Given the description of an element on the screen output the (x, y) to click on. 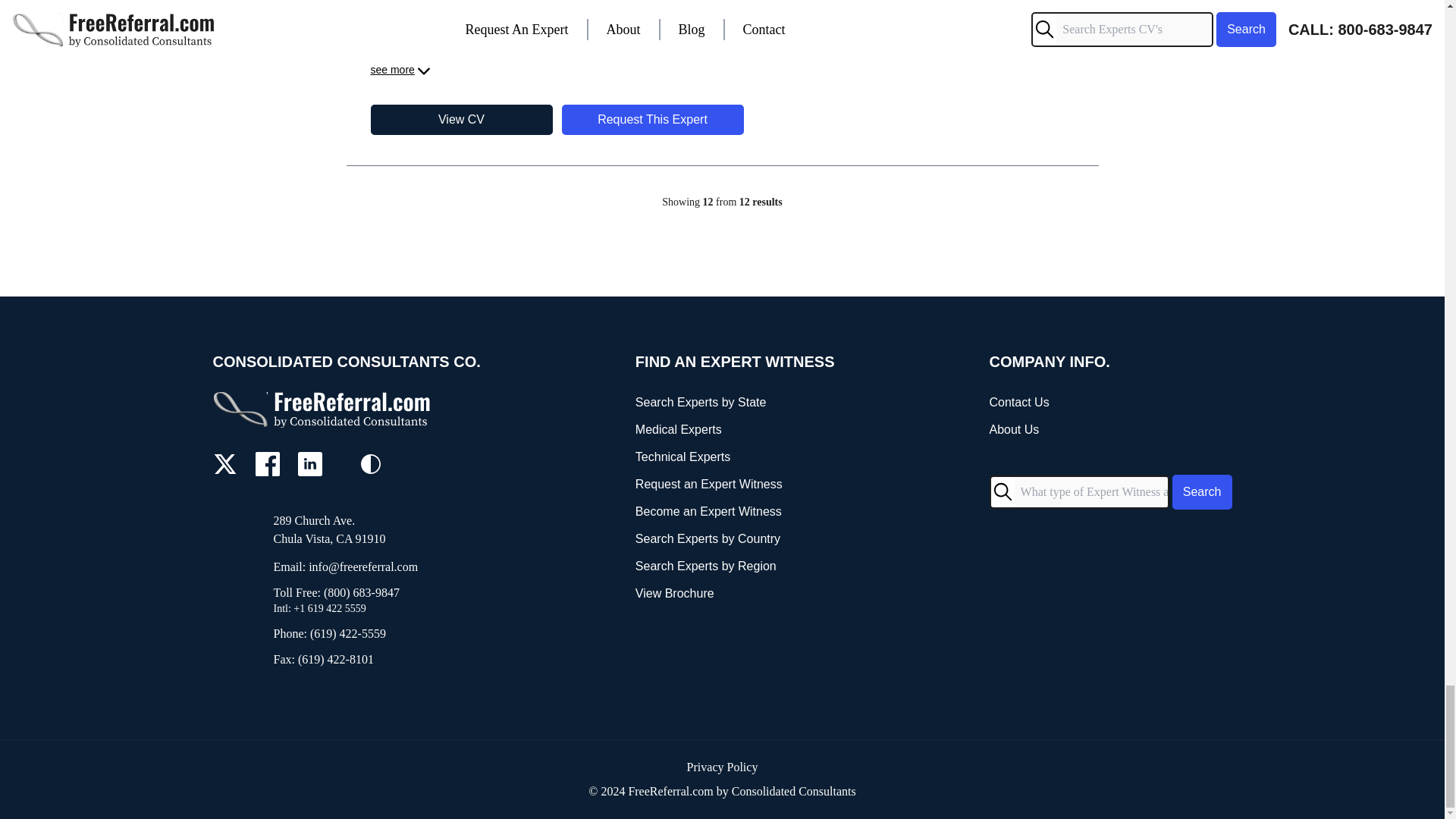
see more (400, 71)
View CV (460, 119)
Free Referral (322, 408)
